Given the description of an element on the screen output the (x, y) to click on. 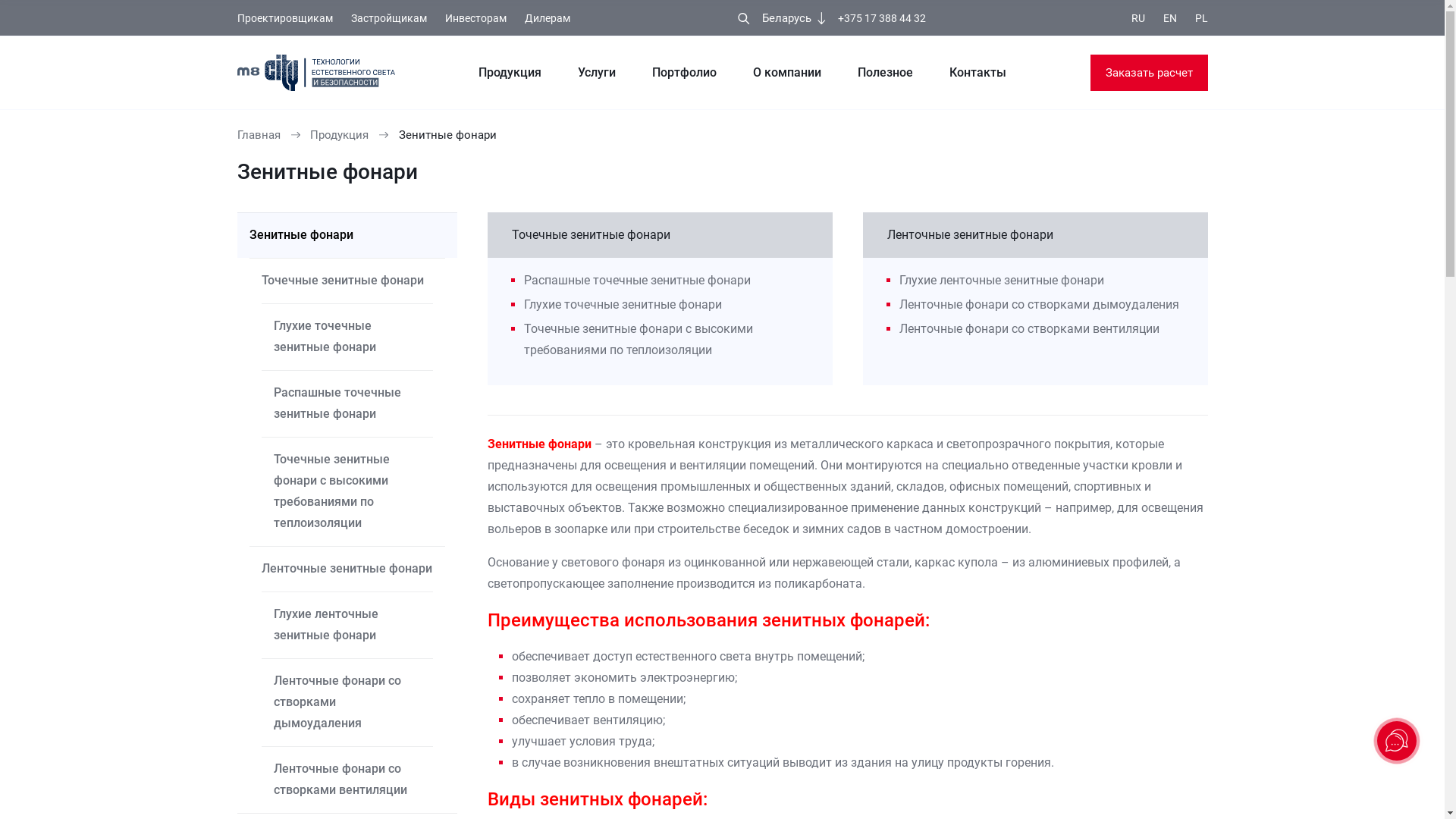
PL Element type: text (1201, 18)
+375 17 388 44 32 Element type: text (881, 18)
RU Element type: text (1138, 18)
EN Element type: text (1169, 18)
